Given the description of an element on the screen output the (x, y) to click on. 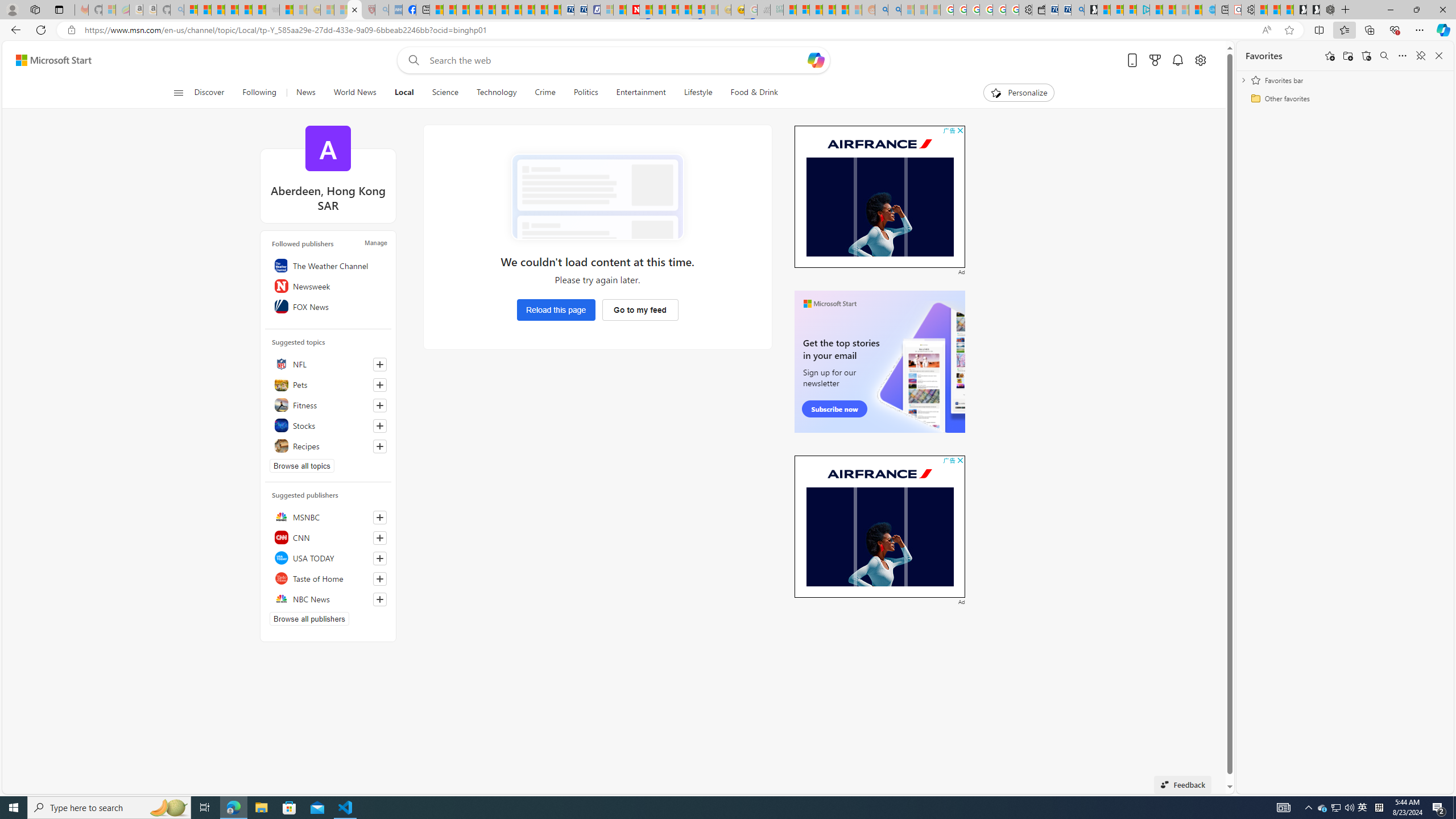
Recipes (327, 445)
Follow this topic (379, 445)
Add this page to favorites (1330, 55)
Class: button-glyph (178, 92)
MSNBC (327, 516)
